Given the description of an element on the screen output the (x, y) to click on. 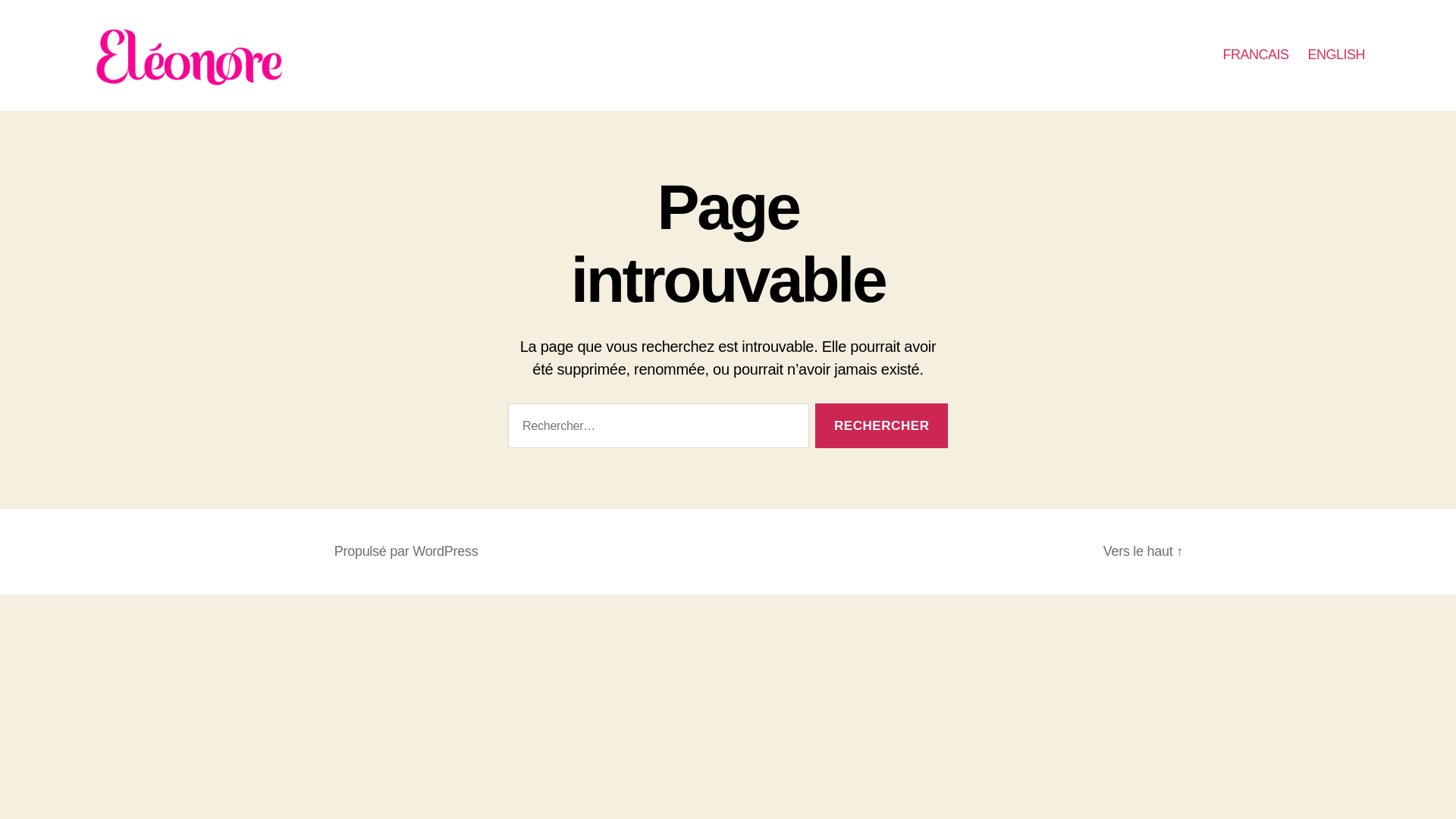
FRANCAIS (1255, 54)
Rechercher (881, 425)
Rechercher (881, 425)
ENGLISH (1336, 54)
Rechercher (881, 425)
